Given the description of an element on the screen output the (x, y) to click on. 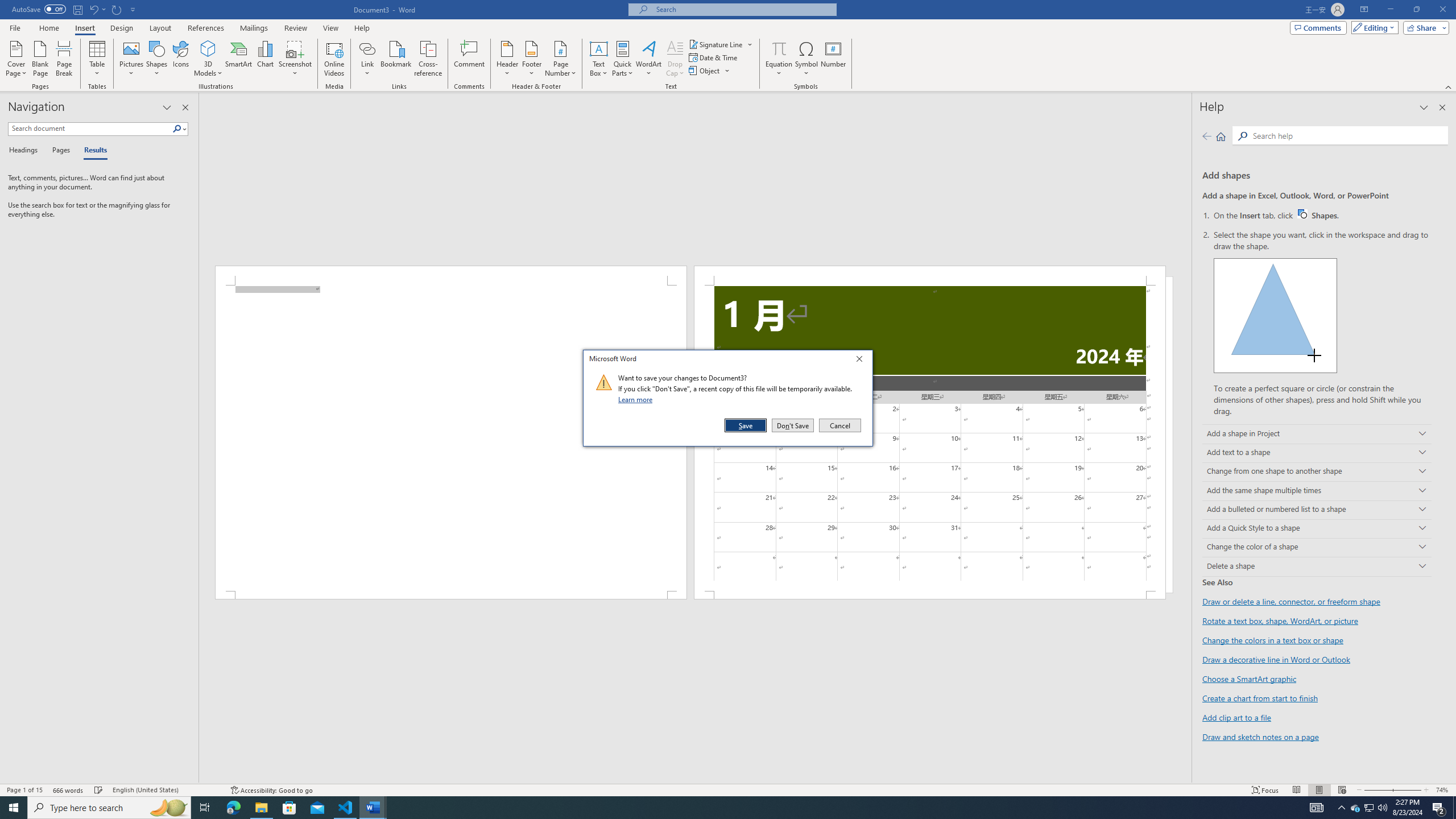
Add text to a shape (1316, 452)
Previous page (1206, 136)
Object... (705, 69)
Add a bulleted or numbered list to a shape (1316, 510)
